Given the description of an element on the screen output the (x, y) to click on. 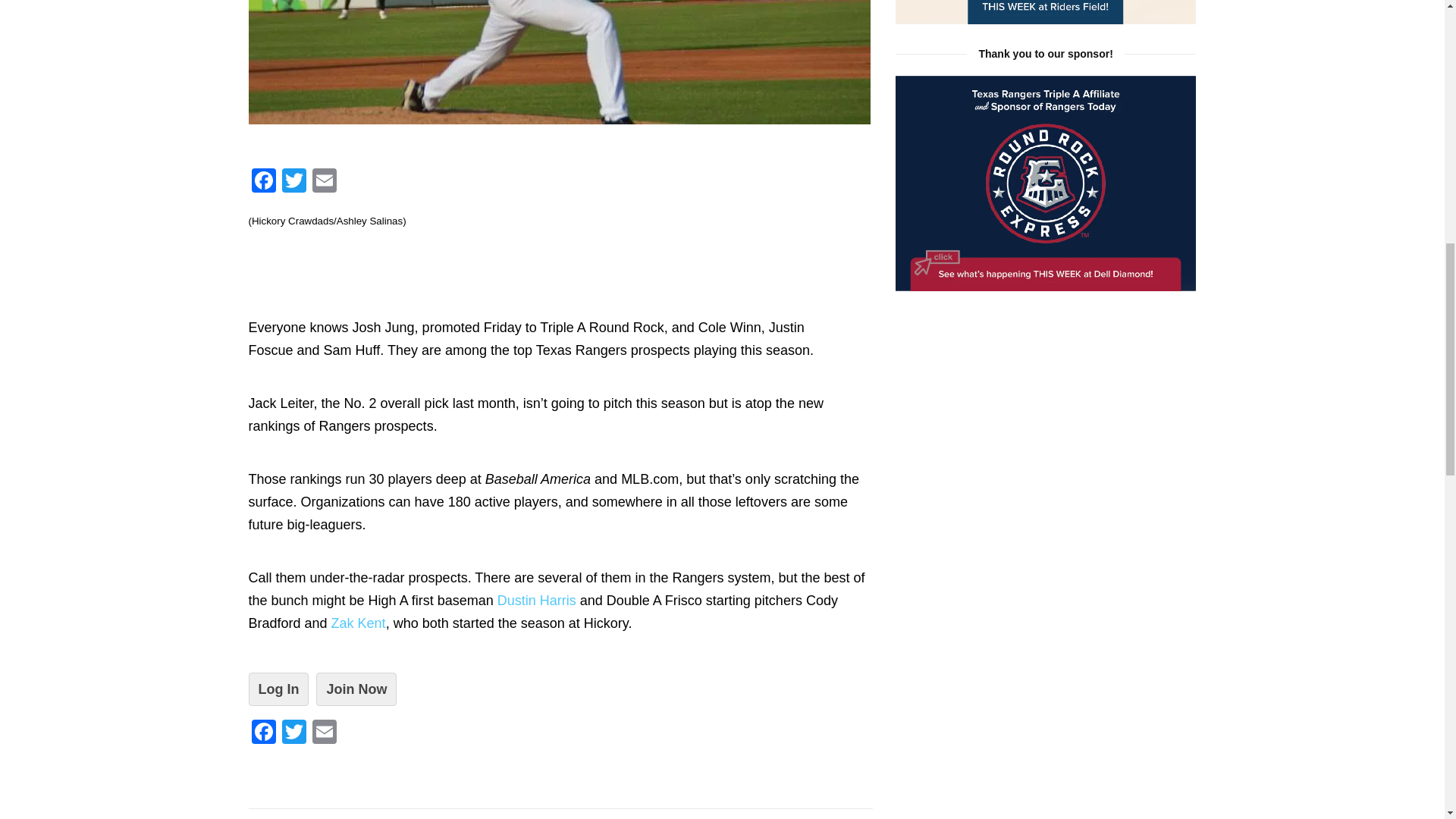
Log In (278, 688)
Twitter (293, 733)
Join Now (355, 688)
Email (323, 182)
Email (323, 733)
Email (323, 182)
Dustin Harris (536, 600)
Facebook (263, 182)
From Triumph Books and Rangers Today (1045, 12)
Twitter (293, 182)
Twitter (293, 182)
Facebook (263, 733)
Facebook (263, 182)
Zak Kent (358, 622)
Email (323, 733)
